Given the description of an element on the screen output the (x, y) to click on. 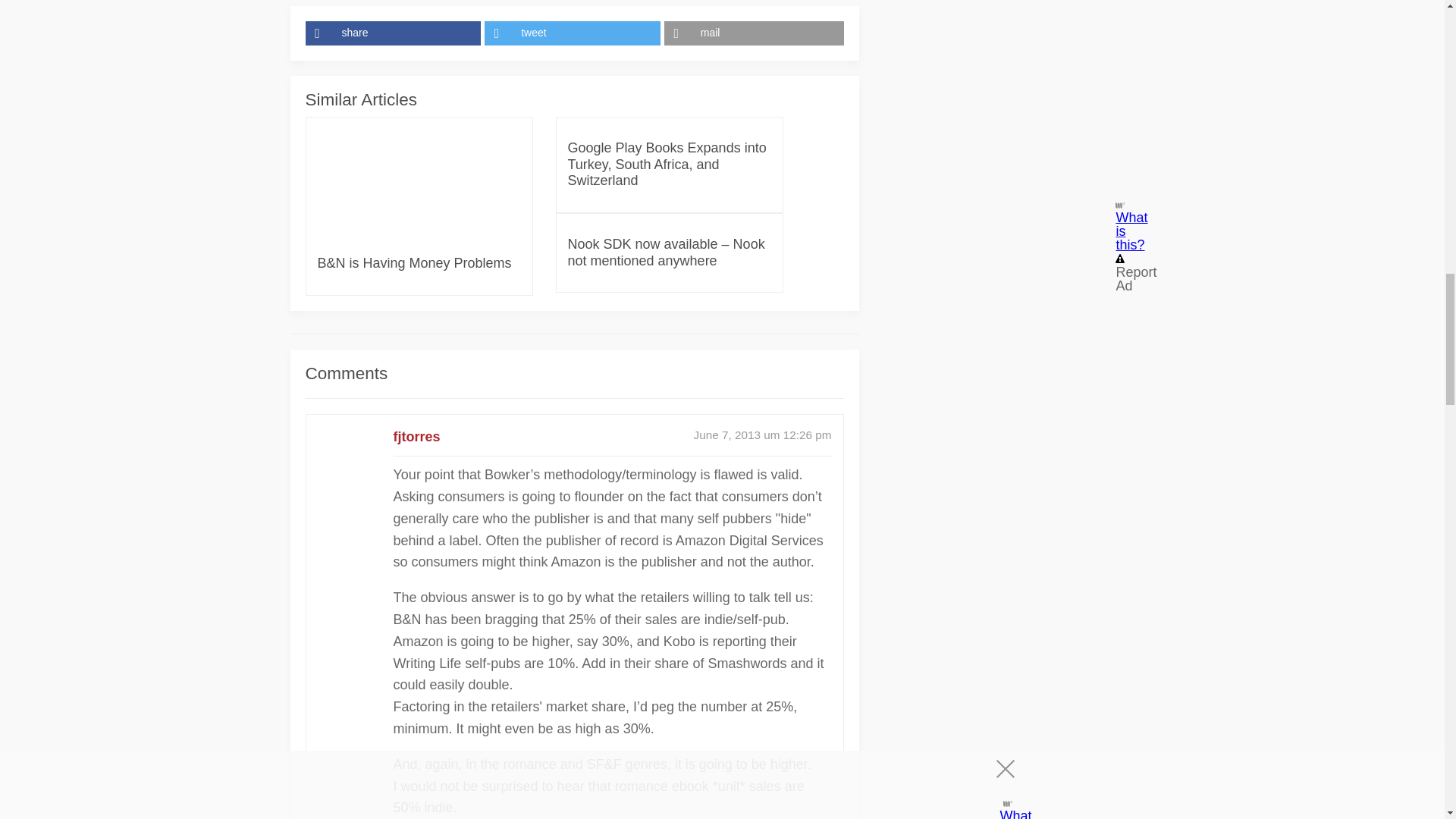
mail (753, 33)
tweet (573, 33)
share (394, 33)
